Given the description of an element on the screen output the (x, y) to click on. 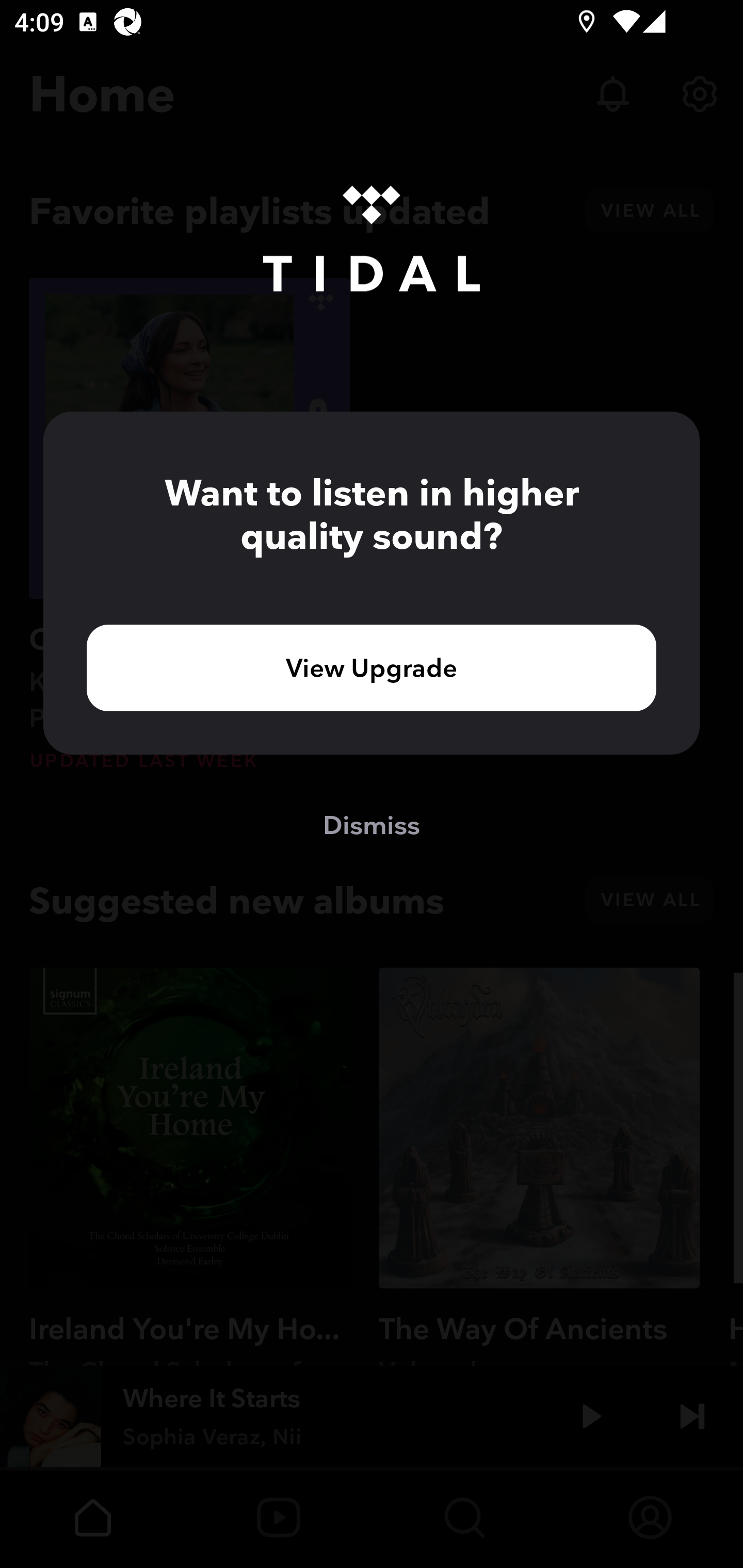
View Upgrade (371, 667)
Dismiss (371, 824)
